Given the description of an element on the screen output the (x, y) to click on. 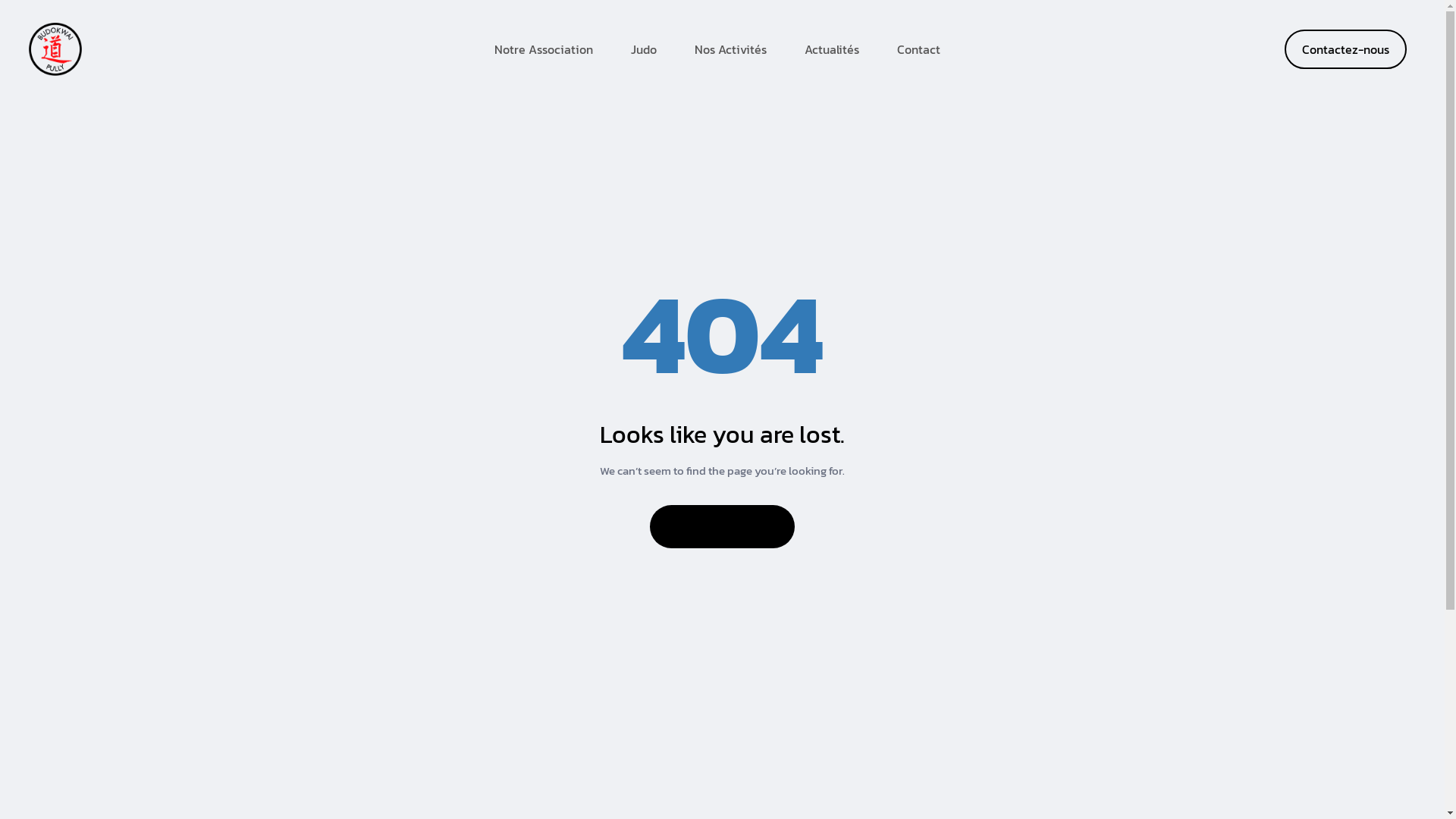
Back to home Element type: text (721, 526)
Contactez-nous Element type: text (1345, 48)
Judo Element type: text (643, 49)
Contact Element type: text (918, 49)
Notre Association Element type: text (543, 49)
